Given the description of an element on the screen output the (x, y) to click on. 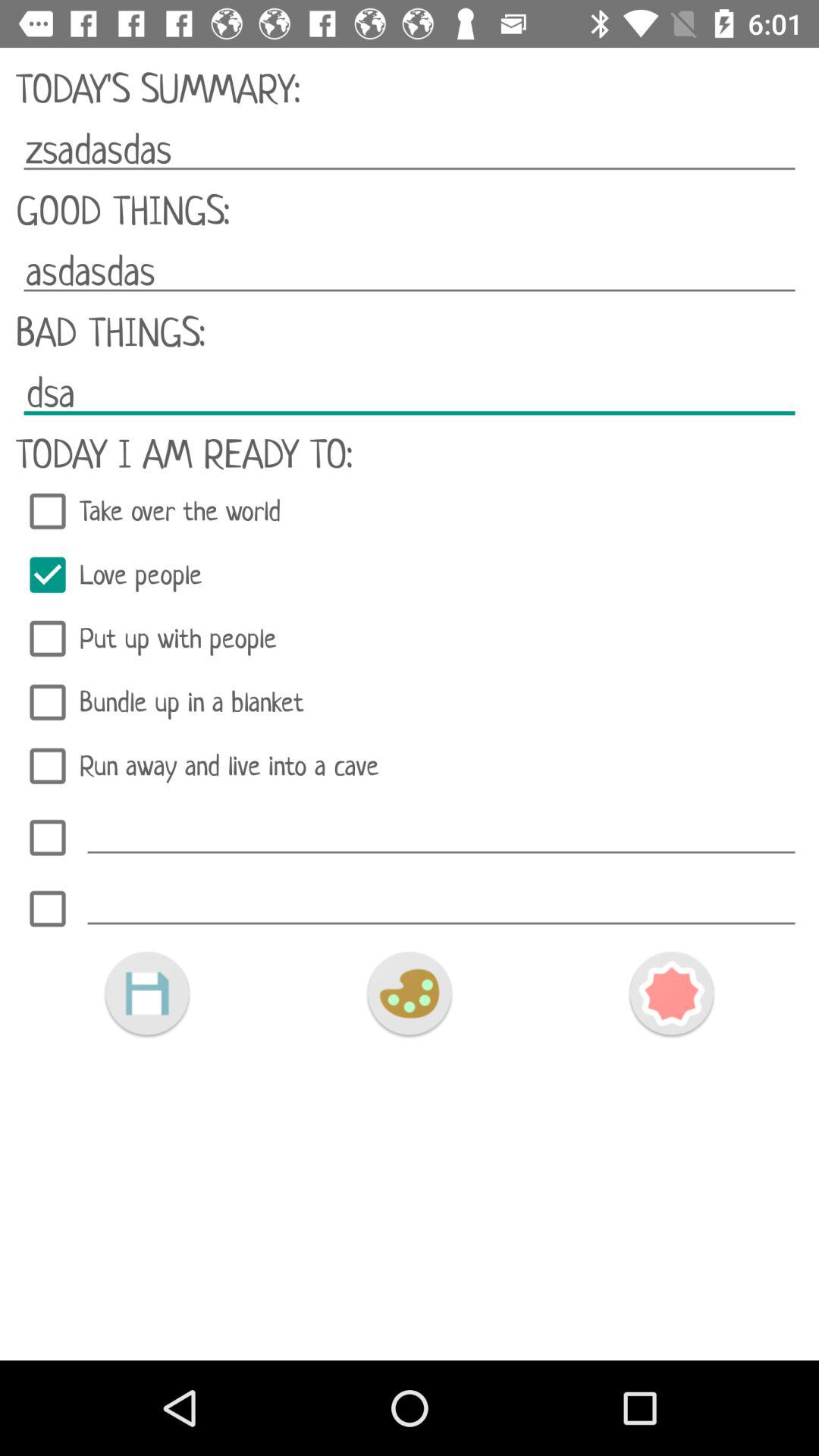
press the item above put up with icon (409, 574)
